Given the description of an element on the screen output the (x, y) to click on. 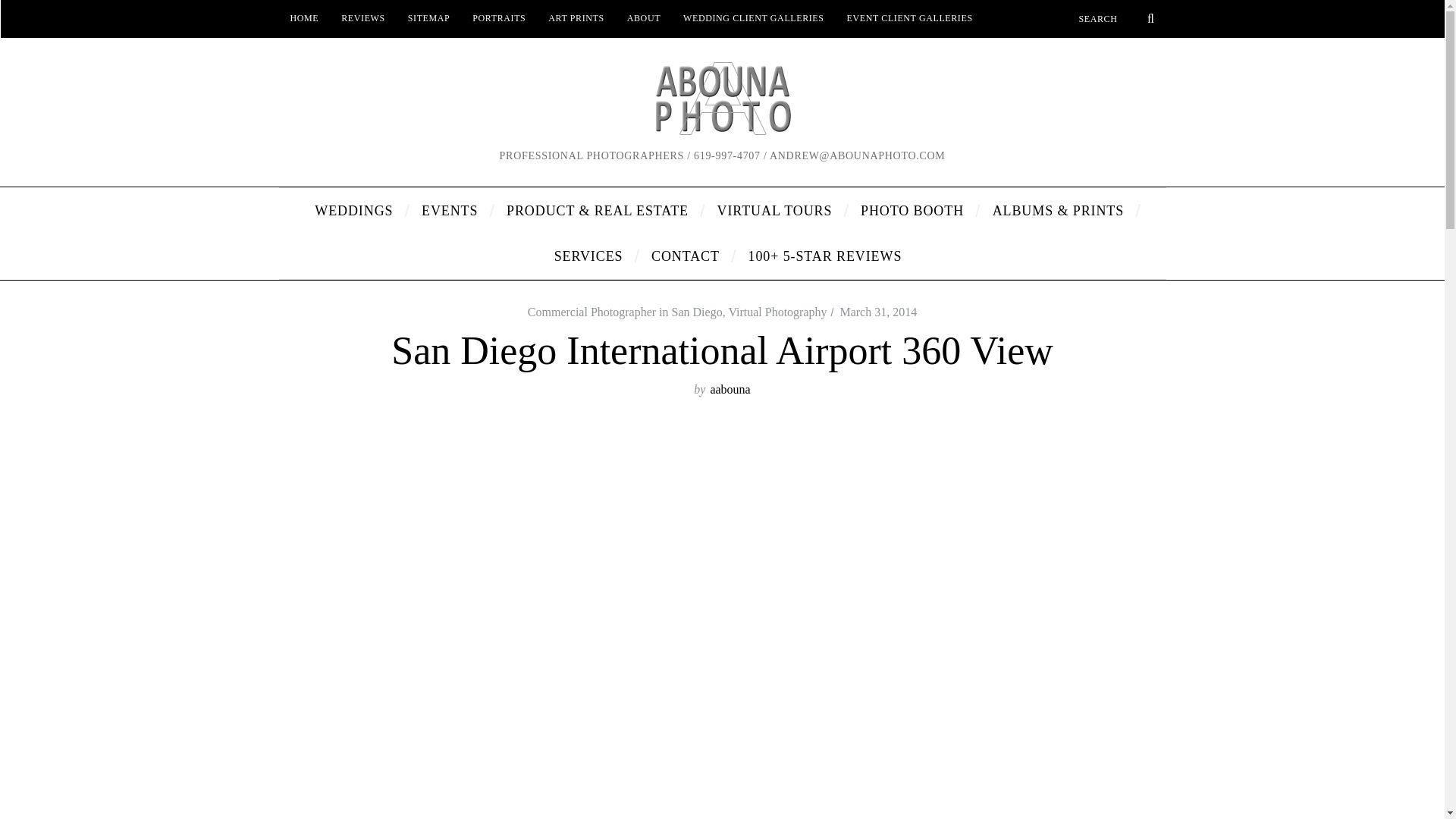
EVENT CLIENT GALLERIES (909, 18)
REVIEWS (363, 18)
HOME (304, 18)
ART PRINTS (575, 18)
SERVICES (591, 256)
EVENTS (452, 210)
Virtual Photography (777, 311)
CONTACT (688, 256)
SITEMAP (428, 18)
PORTRAITS (499, 18)
